Given the description of an element on the screen output the (x, y) to click on. 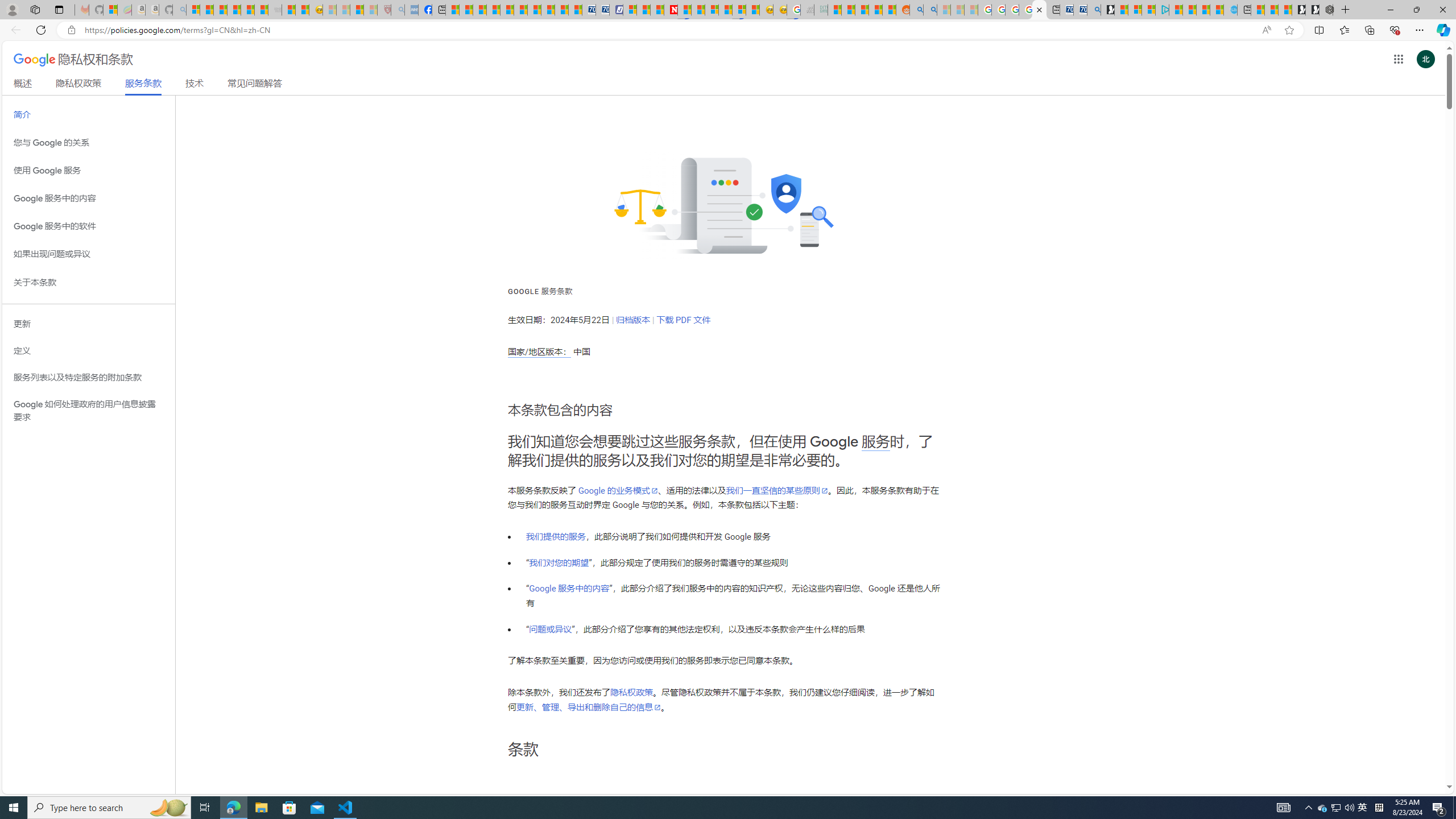
Cheap Car Rentals - Save70.com (1080, 9)
